Given the description of an element on the screen output the (x, y) to click on. 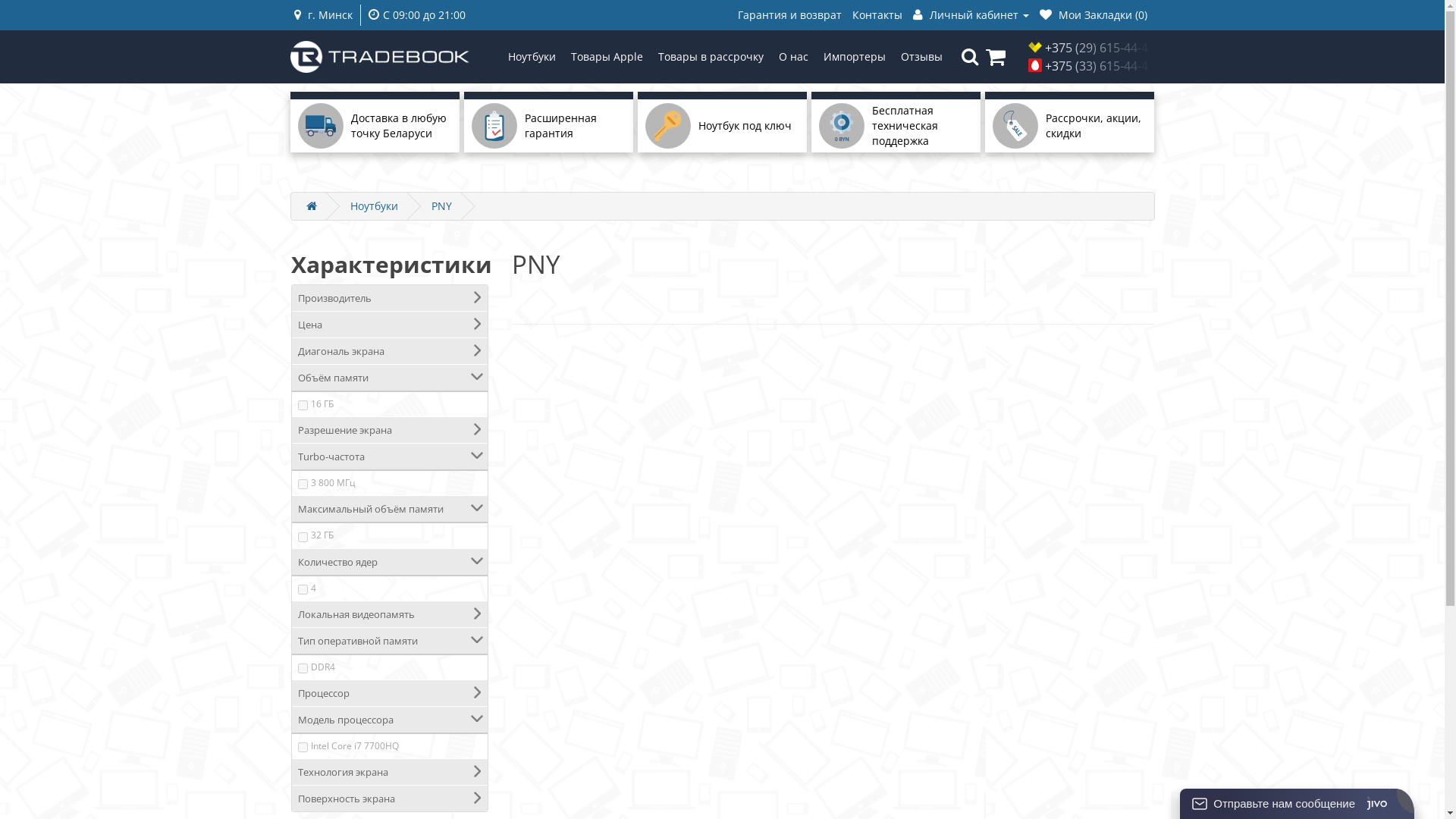
+375 (33) 615-44-4 Element type: text (1099, 65)
+375 (29) 615-44-4 Element type: text (1099, 47)
PNY Element type: text (440, 205)
tradebook.by Element type: hover (379, 56)
